Given the description of an element on the screen output the (x, y) to click on. 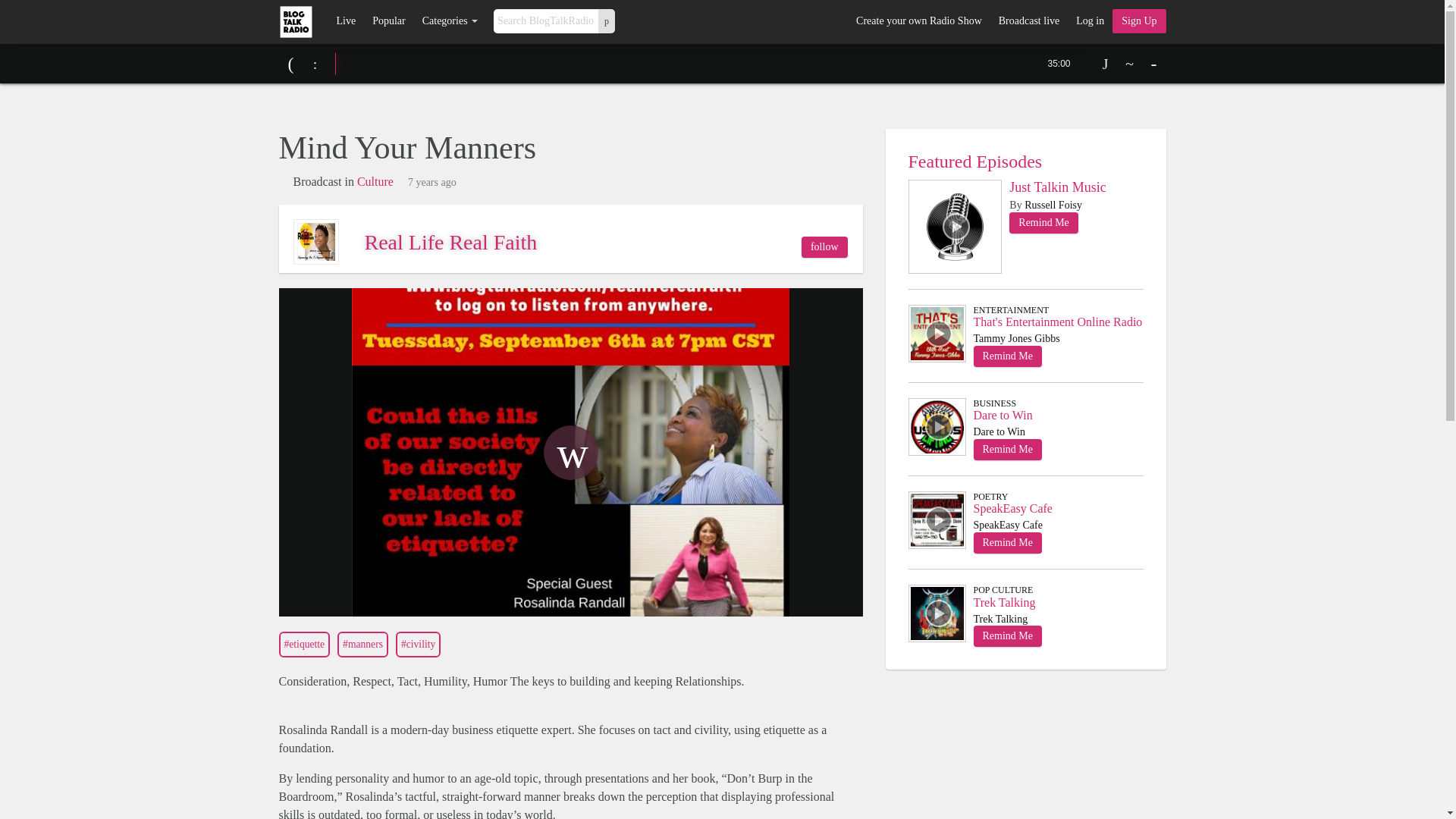
Log in (1089, 20)
Live (345, 20)
Broadcast live (1028, 20)
Wed, September 7, 2016 08:00 am (432, 182)
Follow Real Life Real Faith (824, 246)
Create My Talk Show (1139, 21)
Embed this episode (1129, 63)
Download this episode (1105, 63)
Create your own Radio Show (918, 20)
Categories (449, 20)
Popular (388, 20)
Sign Up (1139, 21)
